Given the description of an element on the screen output the (x, y) to click on. 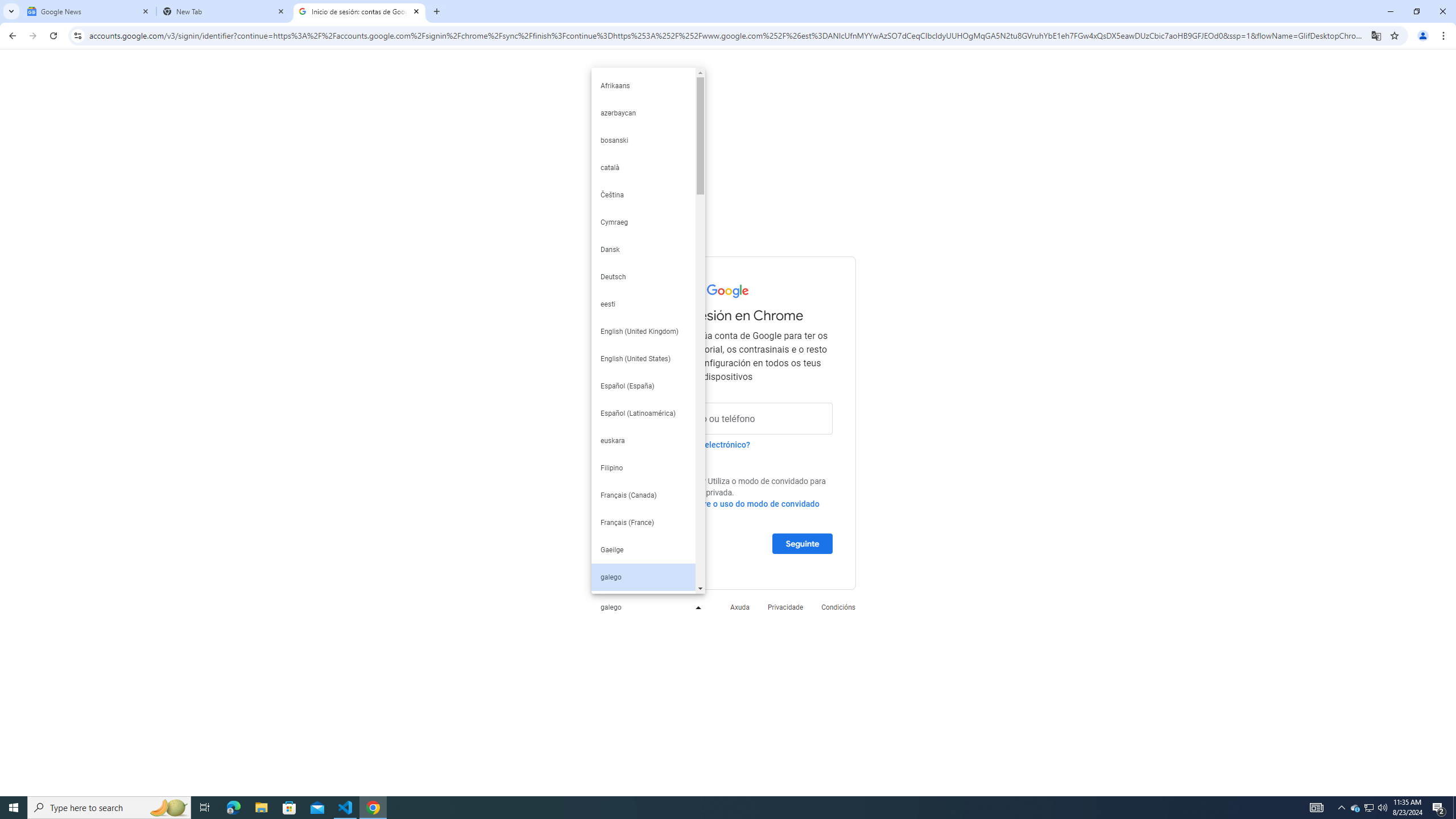
Forward (32, 35)
Afrikaans (643, 85)
